Given the description of an element on the screen output the (x, y) to click on. 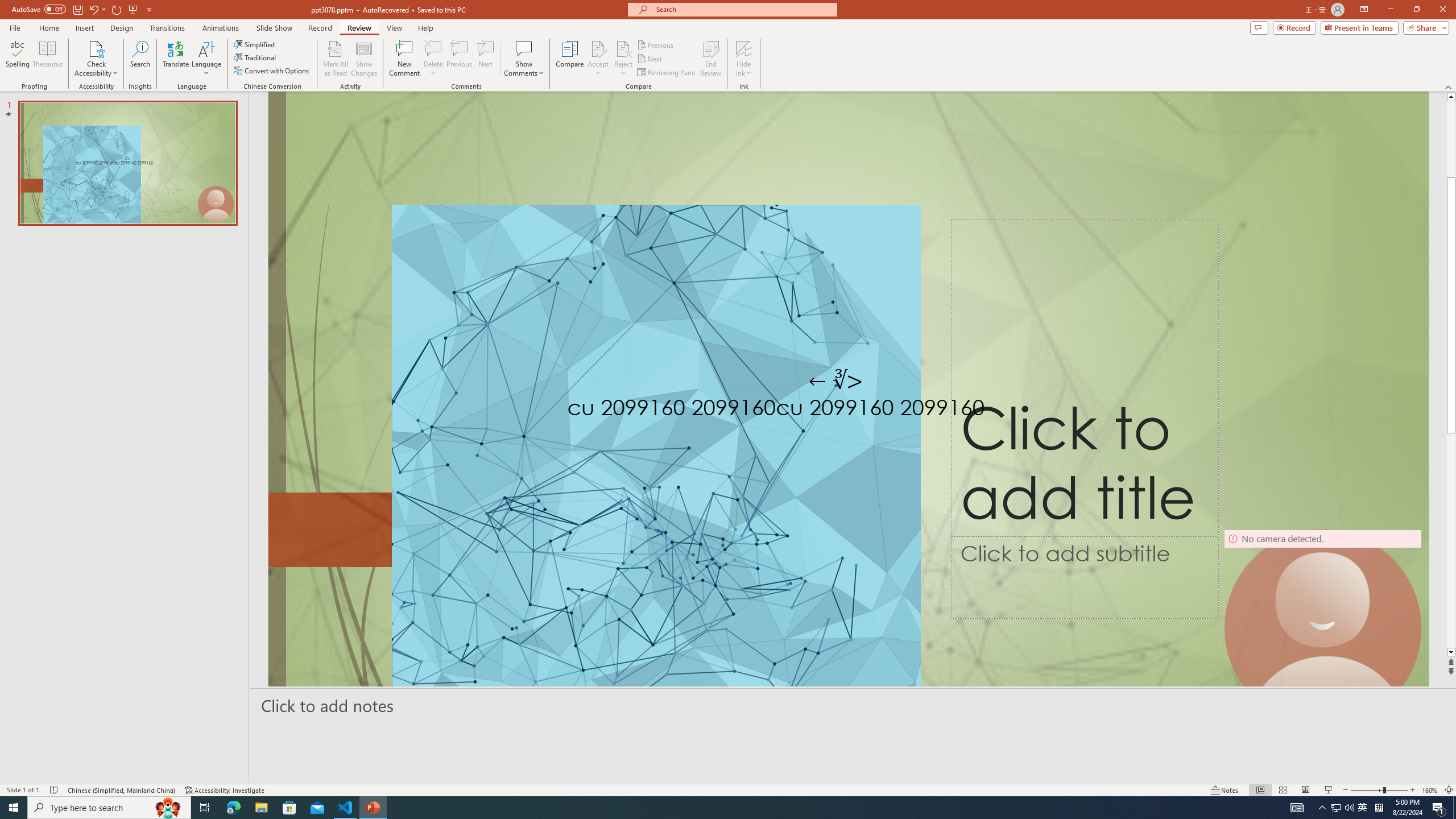
Zoom 160% (1430, 790)
Search (140, 58)
Class: MsoCommandBar (728, 789)
TextBox 7 (836, 380)
Delete (432, 58)
Spell Check No Errors (54, 790)
Show Comments (524, 58)
Accessibility Checker Accessibility: Investigate (224, 790)
